Given the description of an element on the screen output the (x, y) to click on. 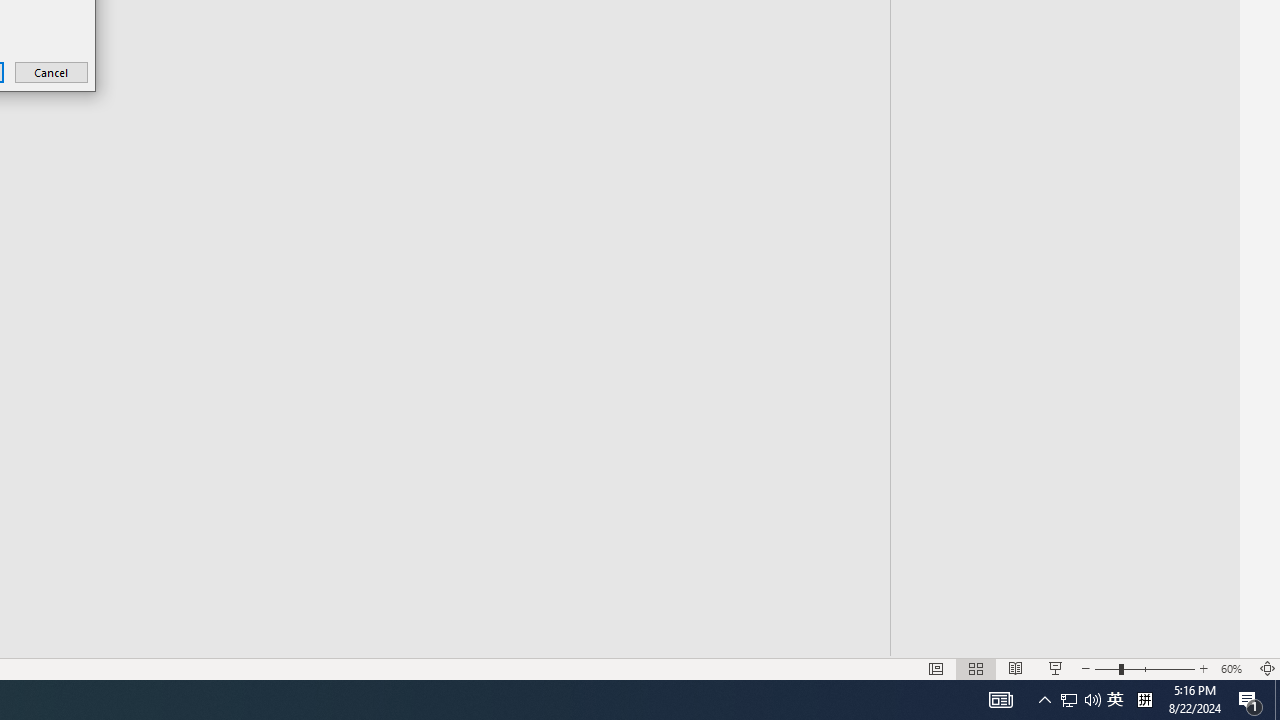
Action Center, 1 new notification (1250, 699)
Cancel (51, 72)
